Given the description of an element on the screen output the (x, y) to click on. 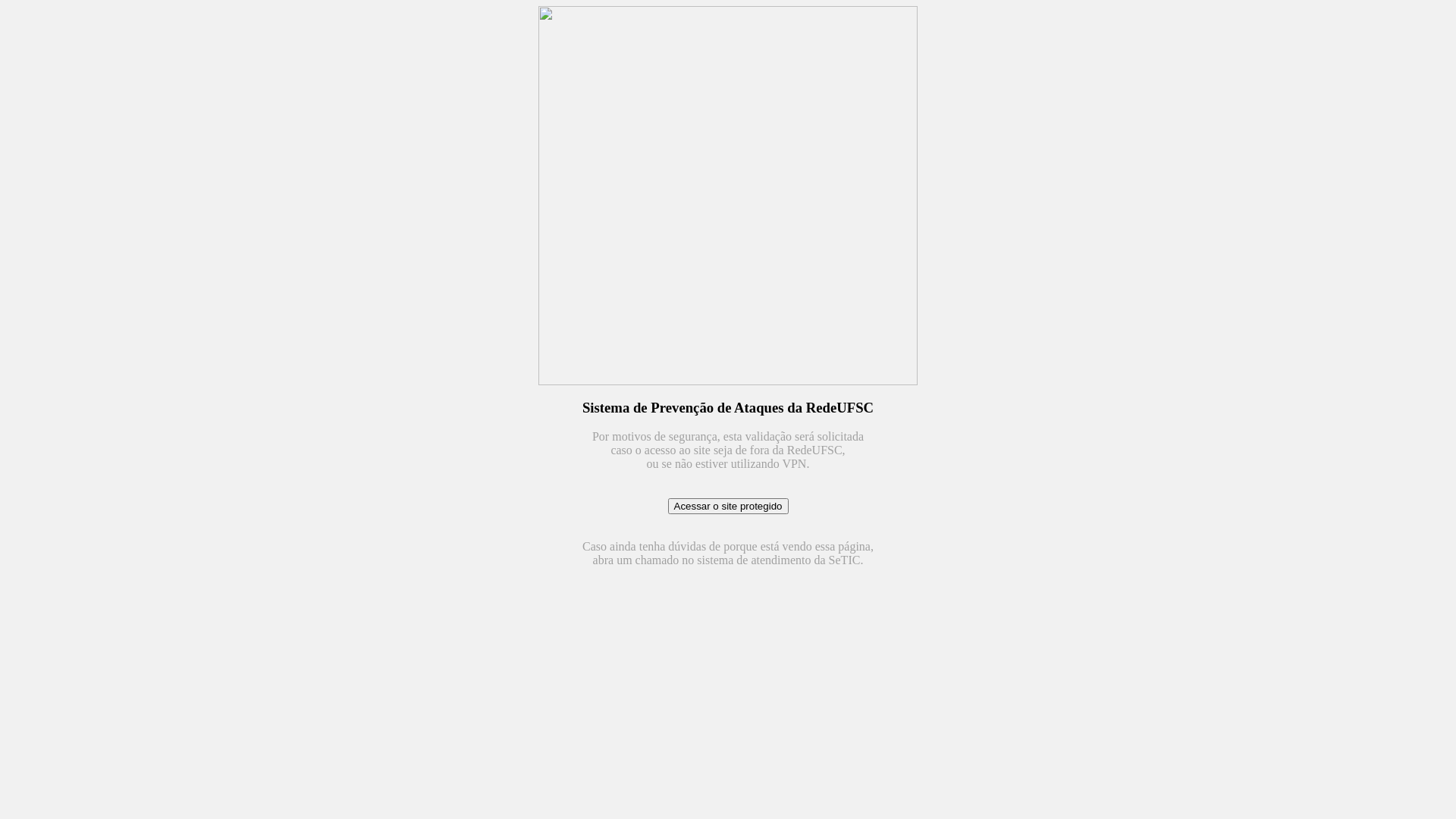
Acessar o site protegido Element type: text (727, 506)
